Given the description of an element on the screen output the (x, y) to click on. 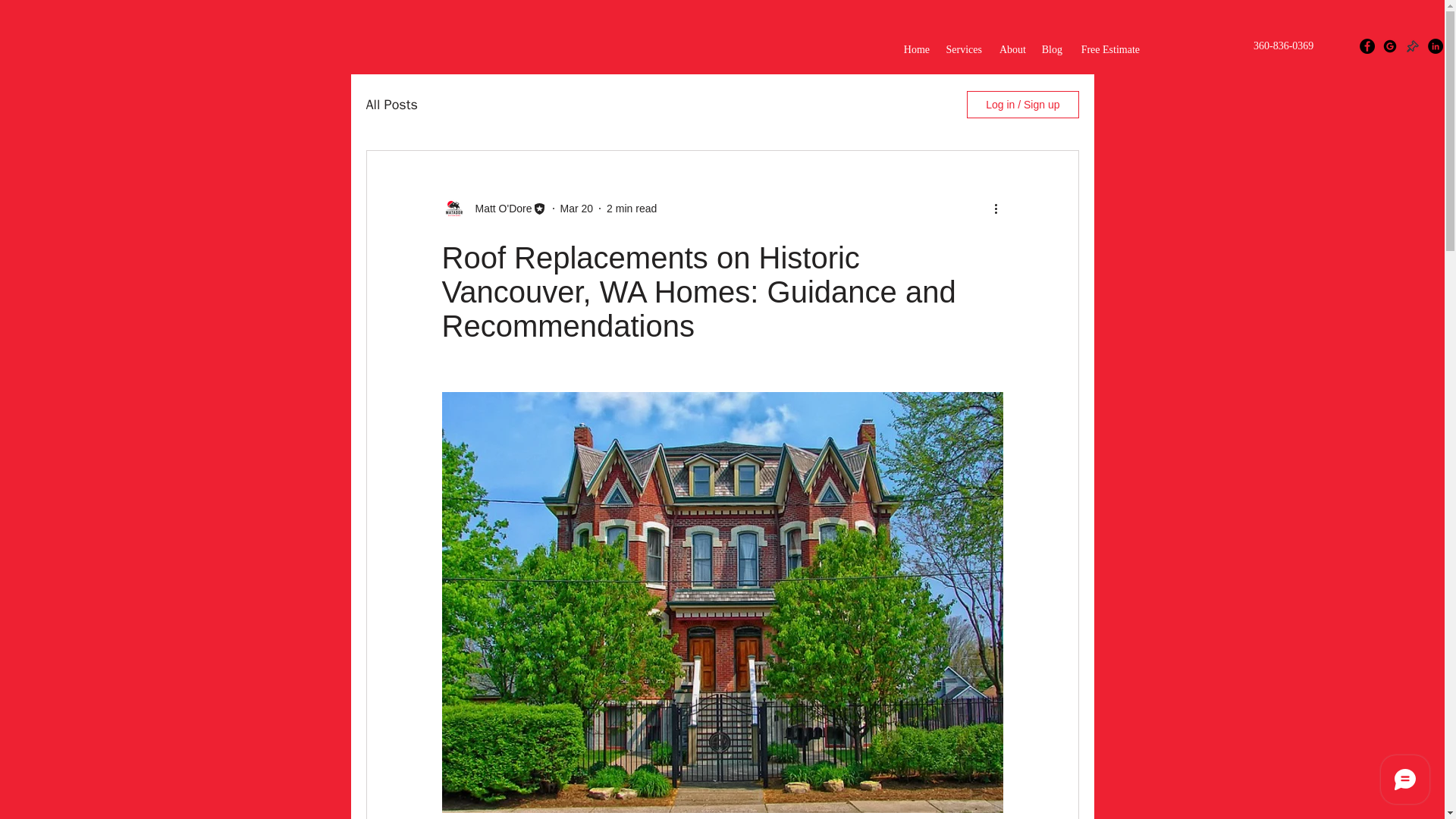
Blog (1051, 49)
Home (916, 49)
Services (963, 49)
Free Estimate (1108, 49)
All Posts (390, 104)
About (1011, 49)
2 min read (631, 207)
Mar 20 (577, 207)
Matt O'Dore (498, 207)
